Given the description of an element on the screen output the (x, y) to click on. 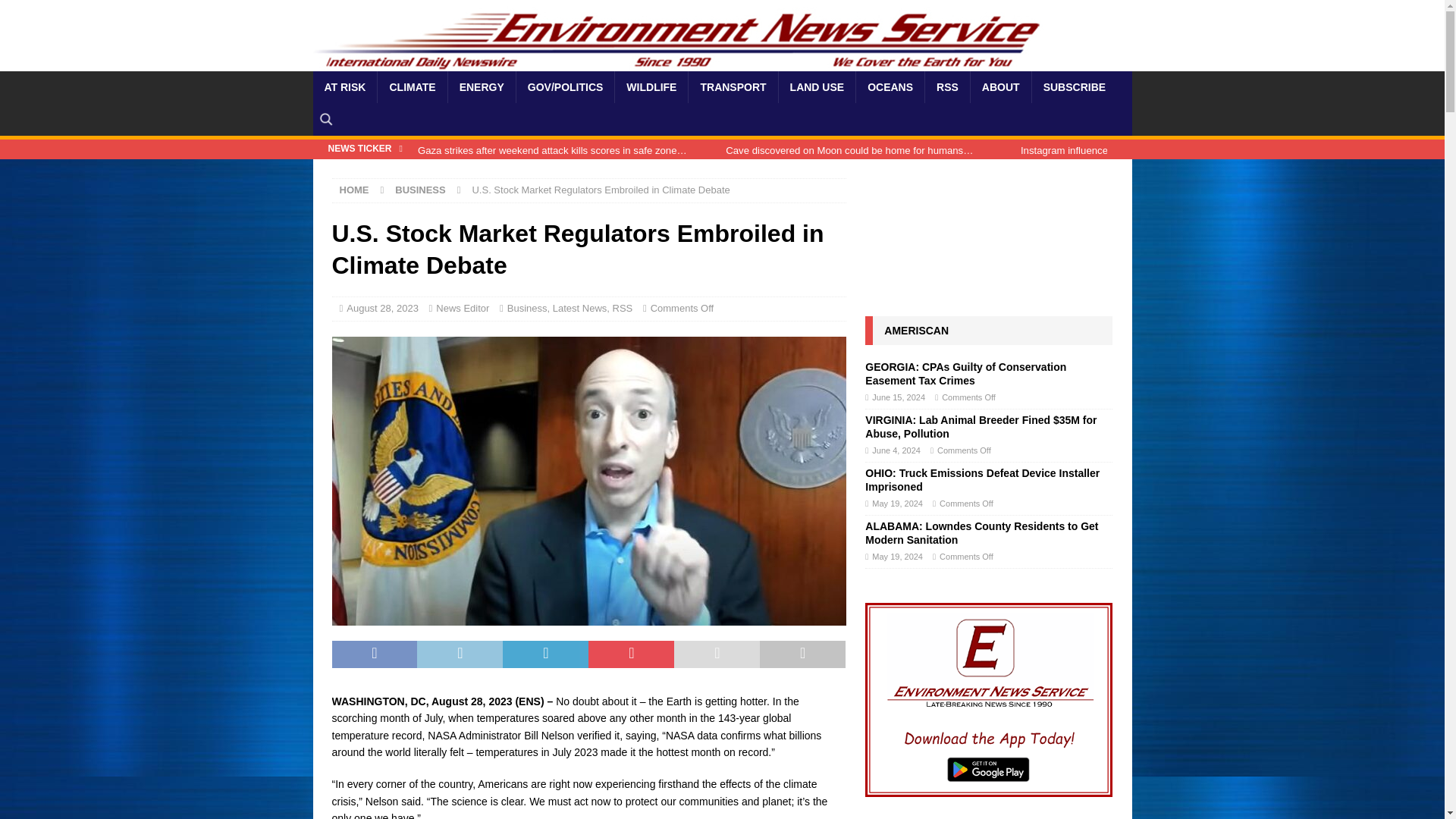
RSS (946, 87)
Search (56, 11)
TRANSPORT (732, 87)
ABOUT (999, 87)
LAND USE (816, 87)
ENERGY (480, 87)
OCEANS (890, 87)
BUSINESS (419, 189)
HOME (354, 189)
AT RISK (345, 87)
August 28, 2023 (382, 307)
CLIMATE (411, 87)
WILDLIFE (650, 87)
SUBSCRIBE (1073, 87)
